Given the description of an element on the screen output the (x, y) to click on. 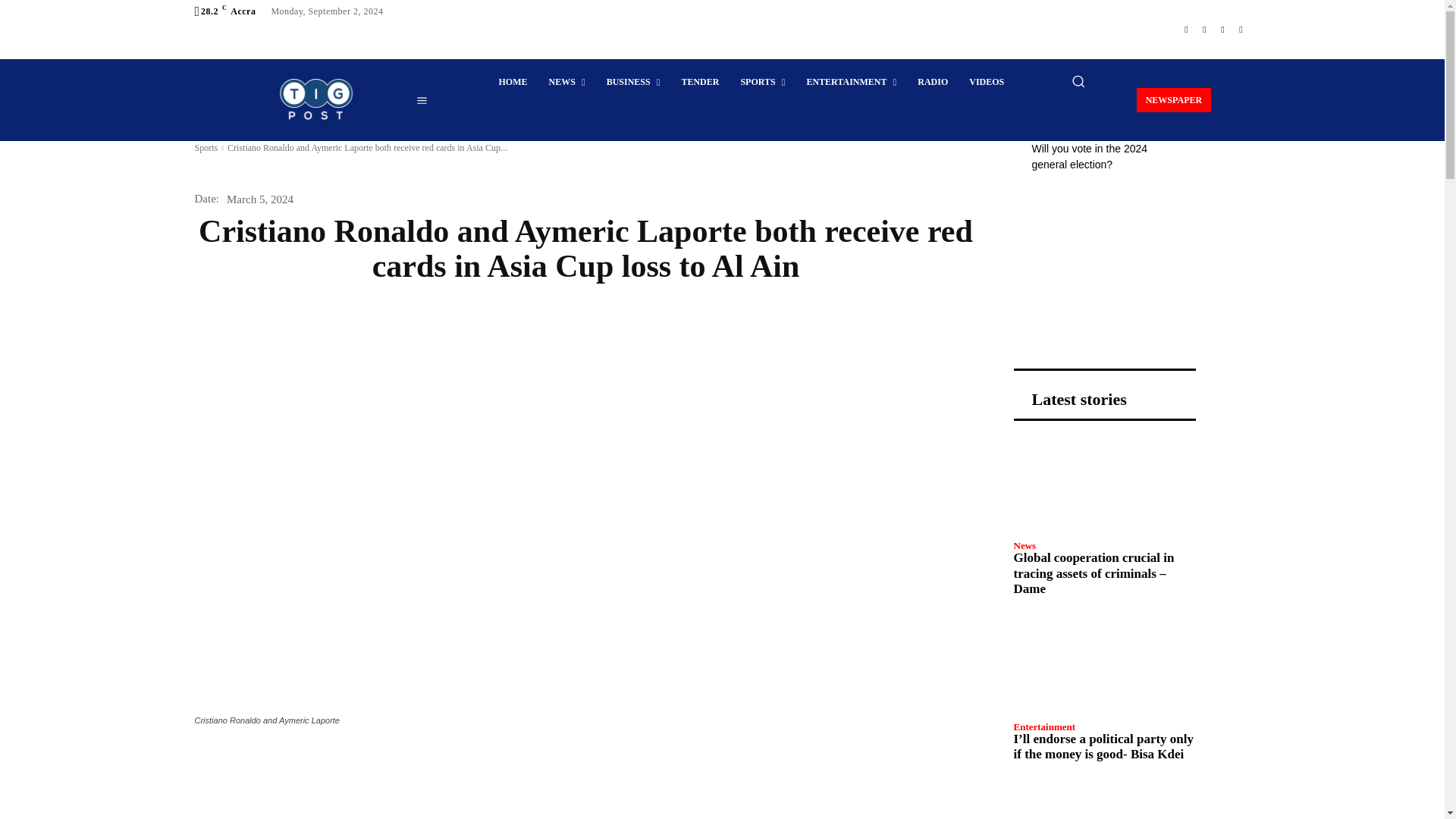
Youtube (1240, 29)
HOME (512, 81)
NEWS (566, 81)
TENDER (699, 81)
View all posts in Sports (204, 147)
SPORTS (761, 81)
NEWSPAPER (1174, 99)
Twitter (1221, 29)
Facebook (1185, 29)
Instagram (1203, 29)
